Given the description of an element on the screen output the (x, y) to click on. 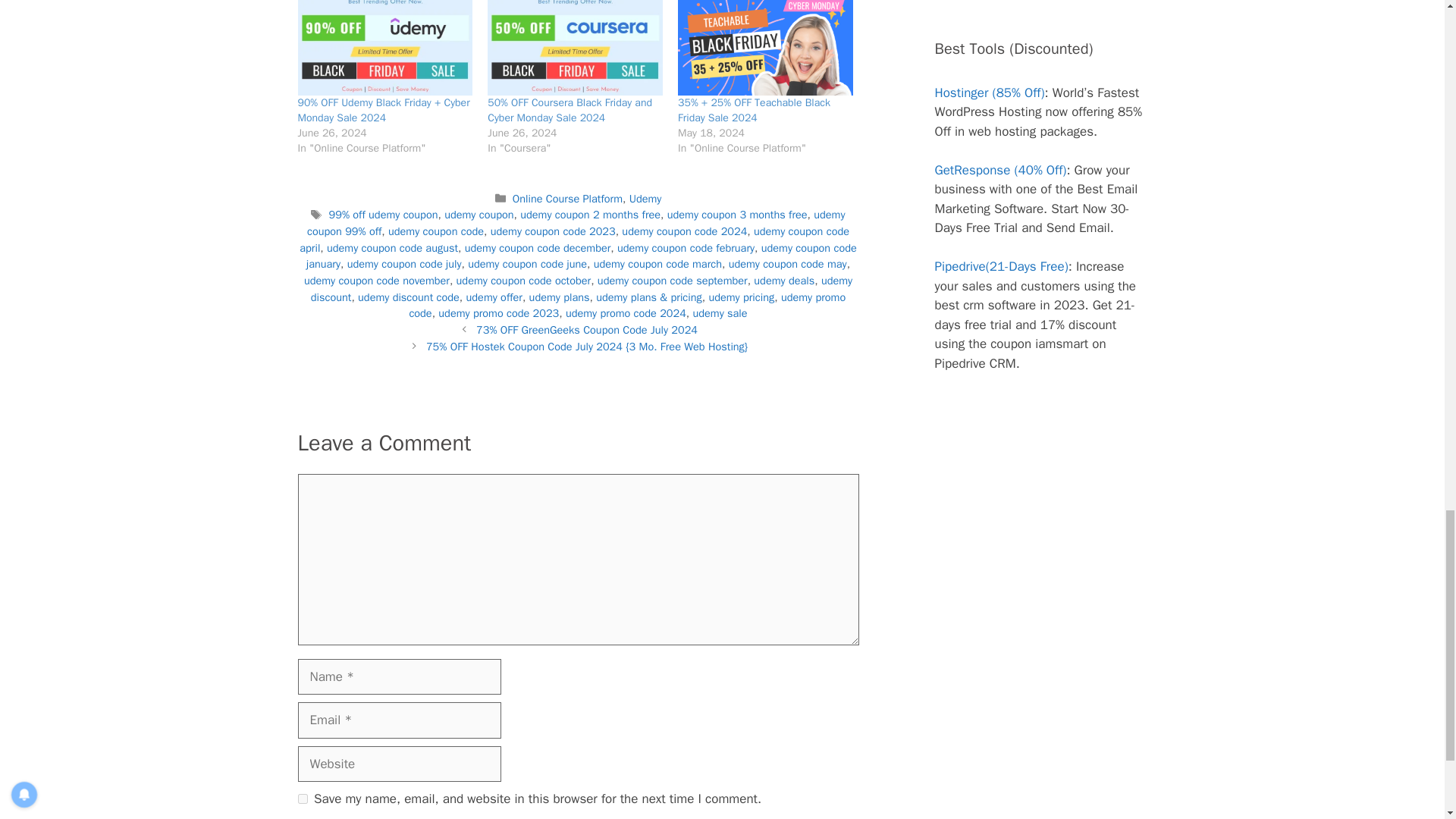
udemy coupon code january (581, 255)
udemy coupon (478, 214)
yes (302, 798)
udemy coupon code march (658, 264)
udemy coupon code december (537, 247)
udemy coupon code may (788, 264)
udemy coupon code february (685, 247)
udemy coupon code (435, 231)
Udemy (645, 198)
udemy coupon code august (392, 247)
udemy coupon 3 months free (737, 214)
udemy coupon code april (573, 239)
udemy coupon code november (376, 280)
udemy coupon code september (672, 280)
udemy coupon 2 months free (590, 214)
